Given the description of an element on the screen output the (x, y) to click on. 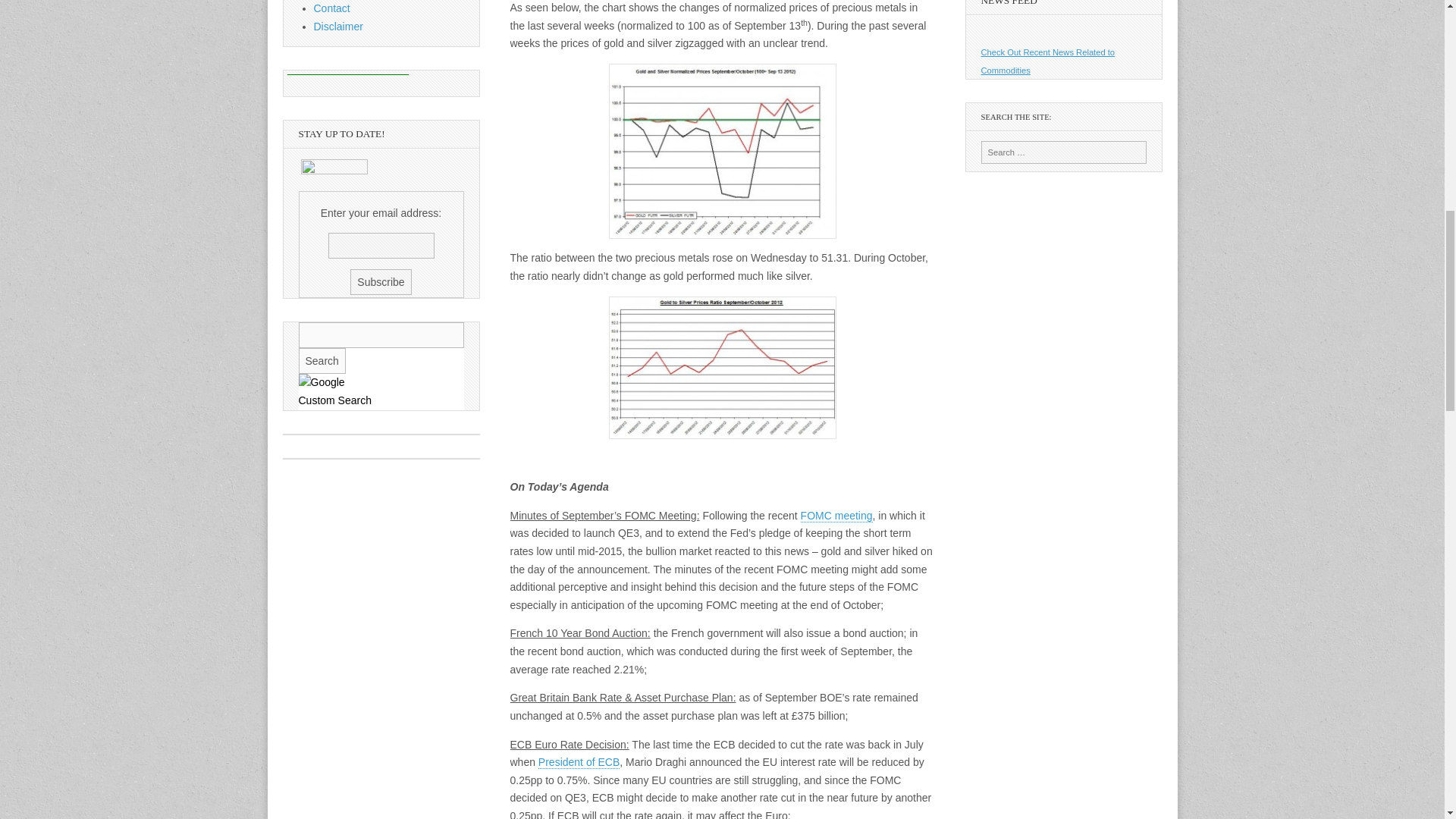
FOMC meeting (836, 515)
Search (322, 360)
Contact (332, 8)
Subscribe (380, 281)
Disclaimer (338, 26)
President of ECB (579, 762)
